Given the description of an element on the screen output the (x, y) to click on. 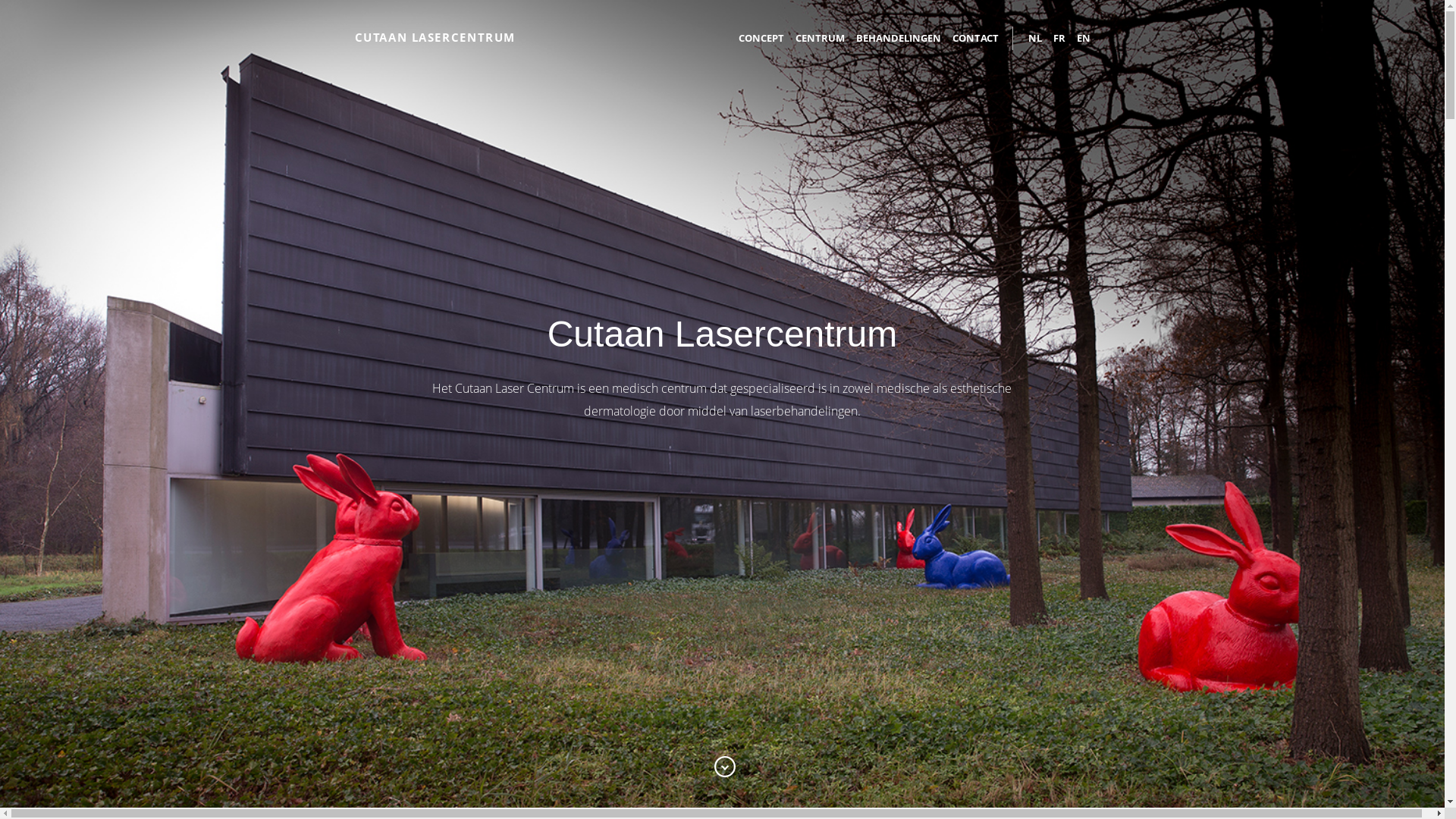
EN Element type: text (1076, 37)
CONCEPT Element type: text (761, 37)
CUTAAN LASERCENTRUM Element type: text (434, 36)
BEHANDELINGEN Element type: text (892, 37)
NL Element type: text (1034, 37)
FR Element type: text (1053, 37)
CONTACT Element type: text (969, 37)
CENTRUM Element type: text (814, 37)
